Given the description of an element on the screen output the (x, y) to click on. 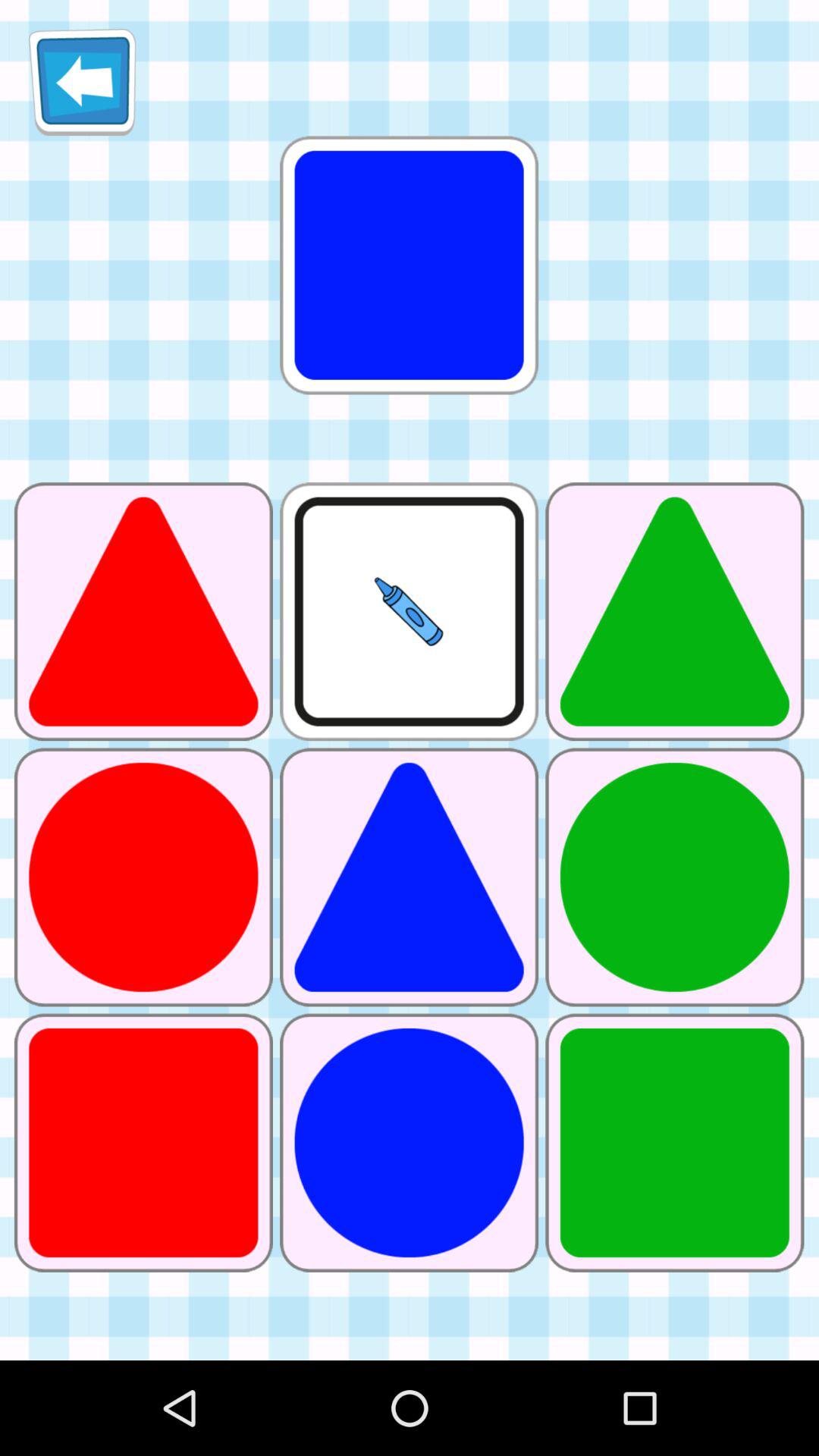
click on the red color square box at bottom left (143, 1142)
select the green color square next to blue color circle (674, 1142)
click on the icon which is to the top left corner of the page (81, 82)
click on circle picture (674, 877)
select the red triangle (143, 611)
click on blue color square (409, 264)
